Given the description of an element on the screen output the (x, y) to click on. 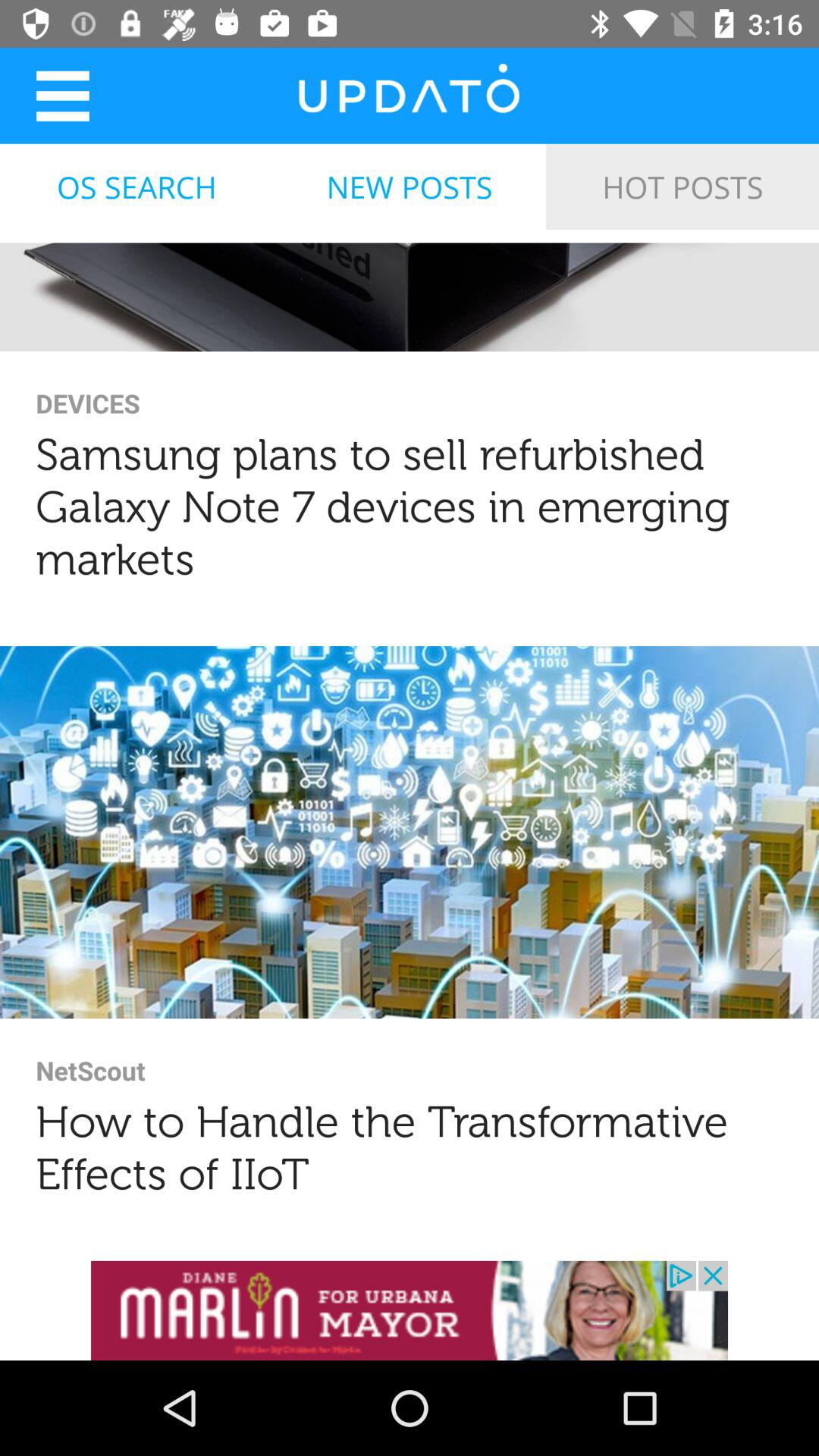
upd^to option (408, 95)
